Given the description of an element on the screen output the (x, y) to click on. 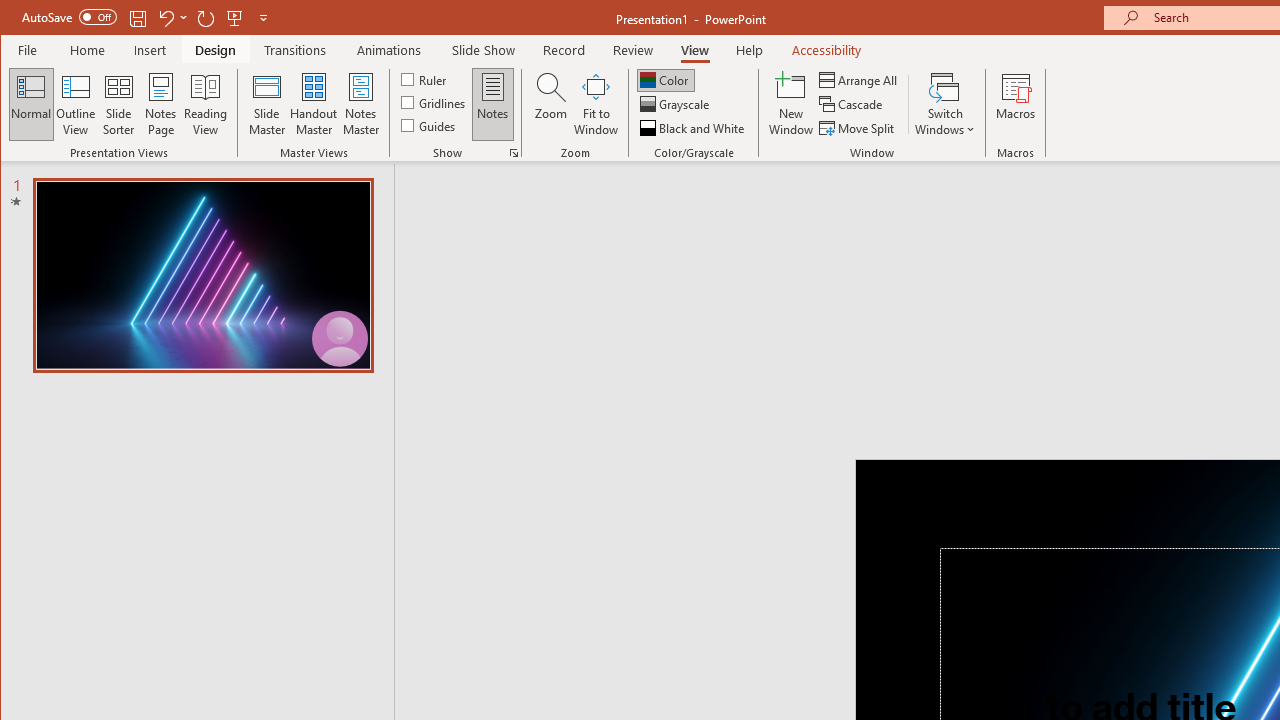
Switch Windows (944, 104)
Slide Master (266, 104)
Ruler (425, 78)
Fit to Window (596, 104)
Color (666, 80)
Macros (1016, 104)
